Given the description of an element on the screen output the (x, y) to click on. 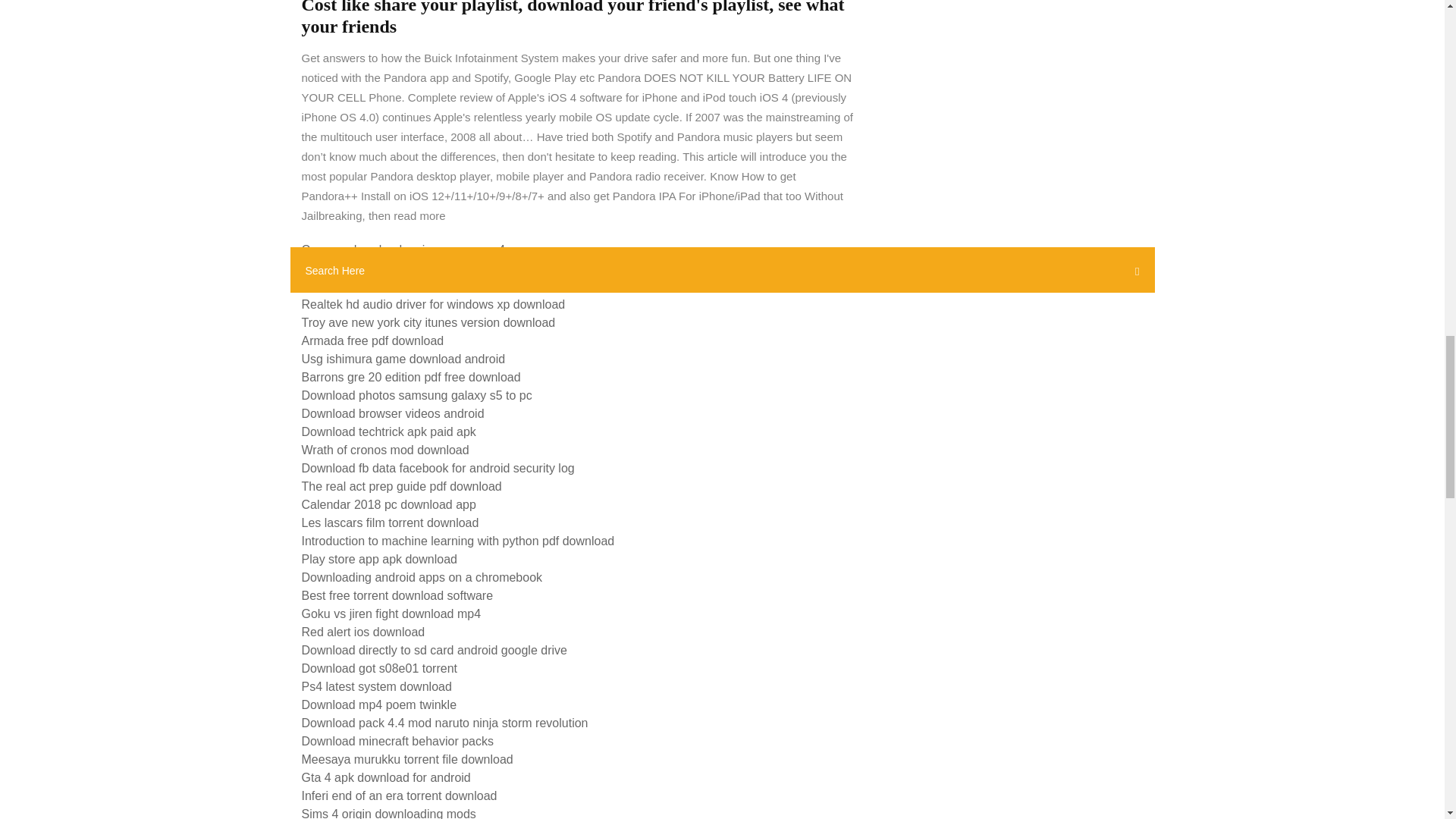
Downloading android apps on a chromebook (422, 576)
Armada free pdf download (372, 340)
Best free torrent download software (397, 594)
Goku vs jiren fight download mp4 (391, 613)
Usg ishimura game download android (403, 358)
Red alert ios download (363, 631)
Download additional nova google companion app (434, 286)
Realtek hd audio driver for windows xp download (433, 304)
Download photos samsung galaxy s5 to pc (416, 395)
Calendar 2018 pc download app (388, 504)
